Given the description of an element on the screen output the (x, y) to click on. 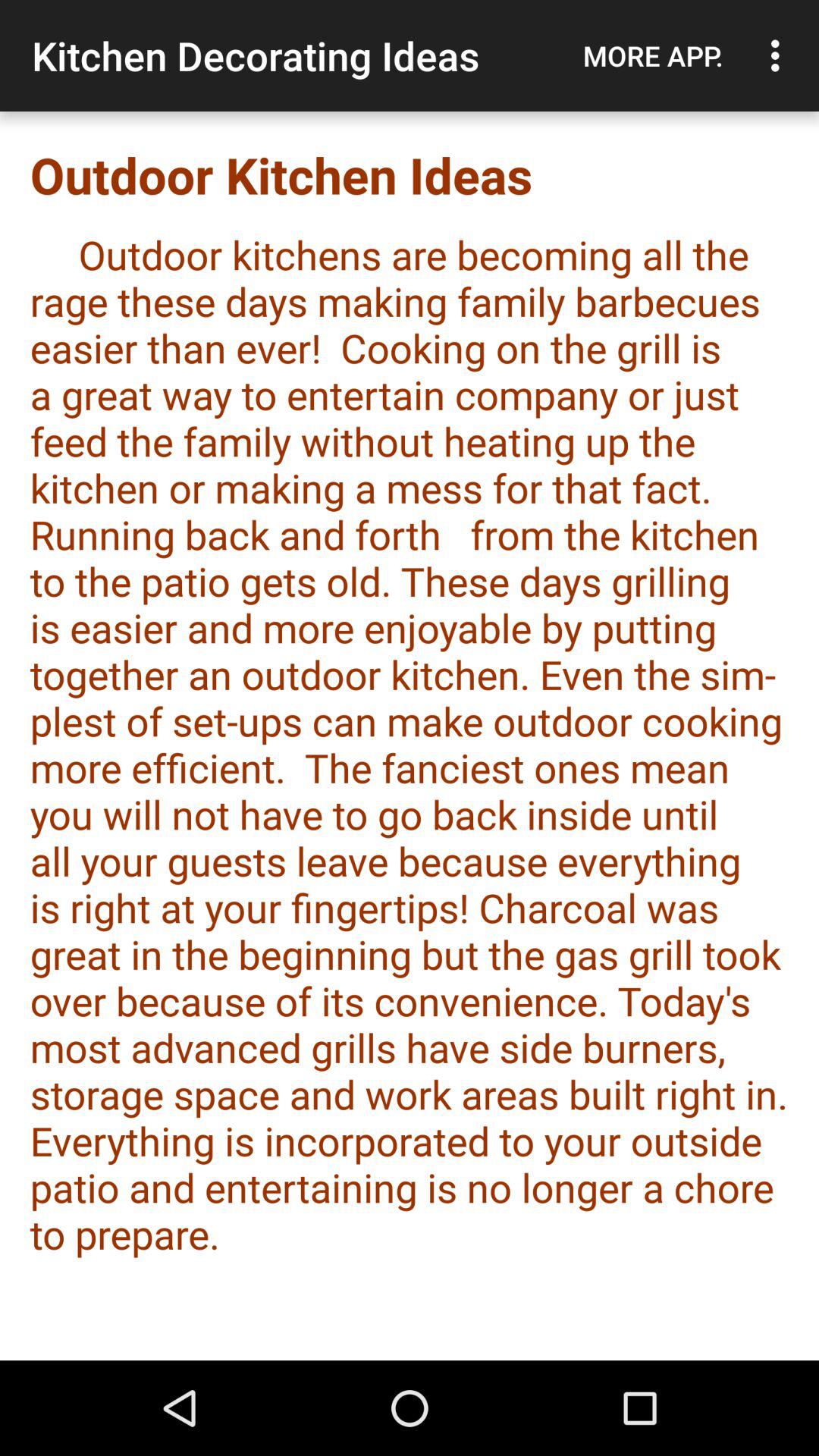
open the icon next to the kitchen decorating ideas icon (653, 55)
